Given the description of an element on the screen output the (x, y) to click on. 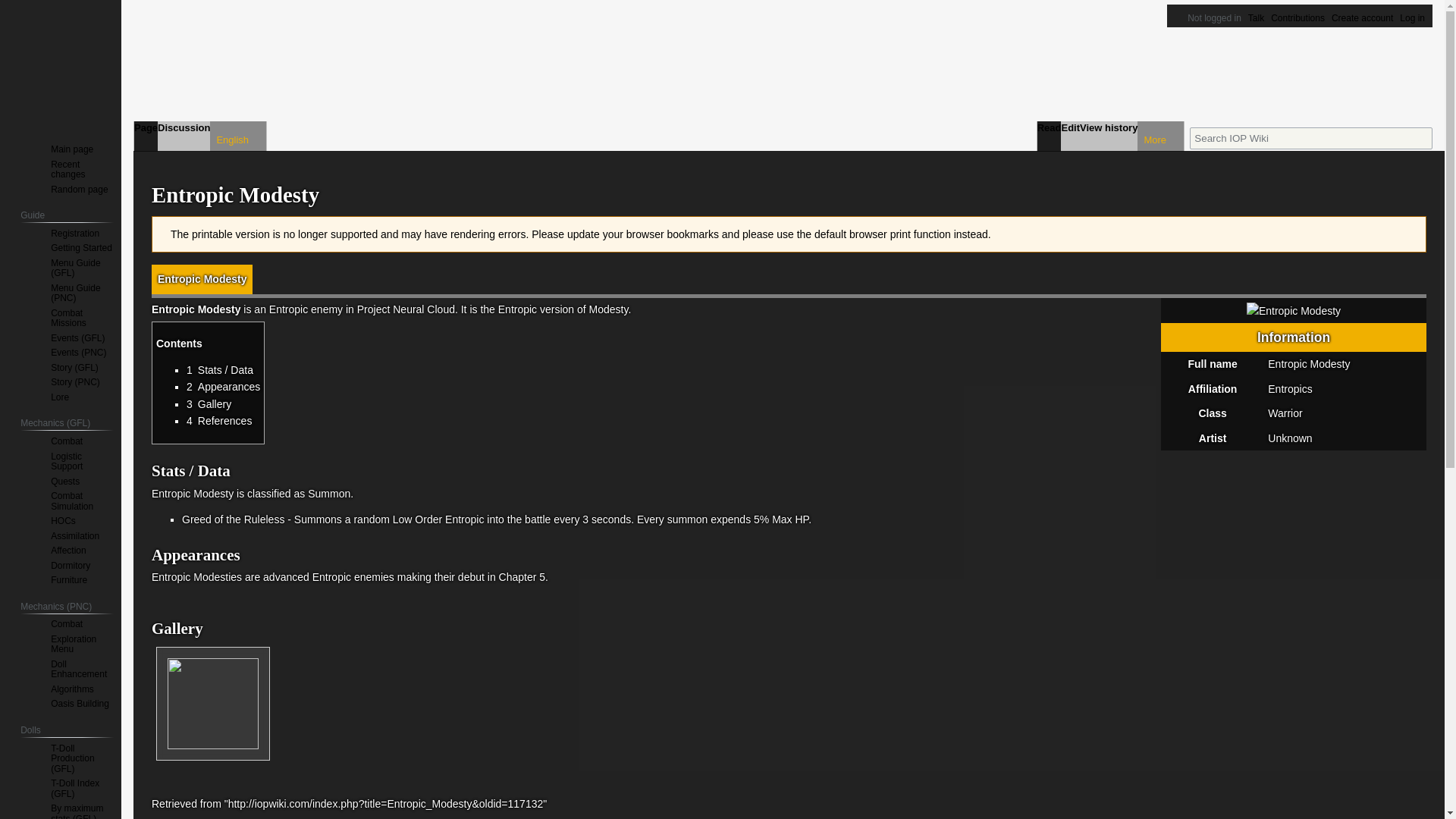
Talk (1255, 18)
Go (1420, 137)
Entropic Modesty (201, 278)
Search (1420, 137)
The user page for the IP address you are editing as (1214, 18)
Contributions (1297, 18)
Project Neural Cloud (405, 309)
Random page (78, 188)
Entropic (288, 309)
